Given the description of an element on the screen output the (x, y) to click on. 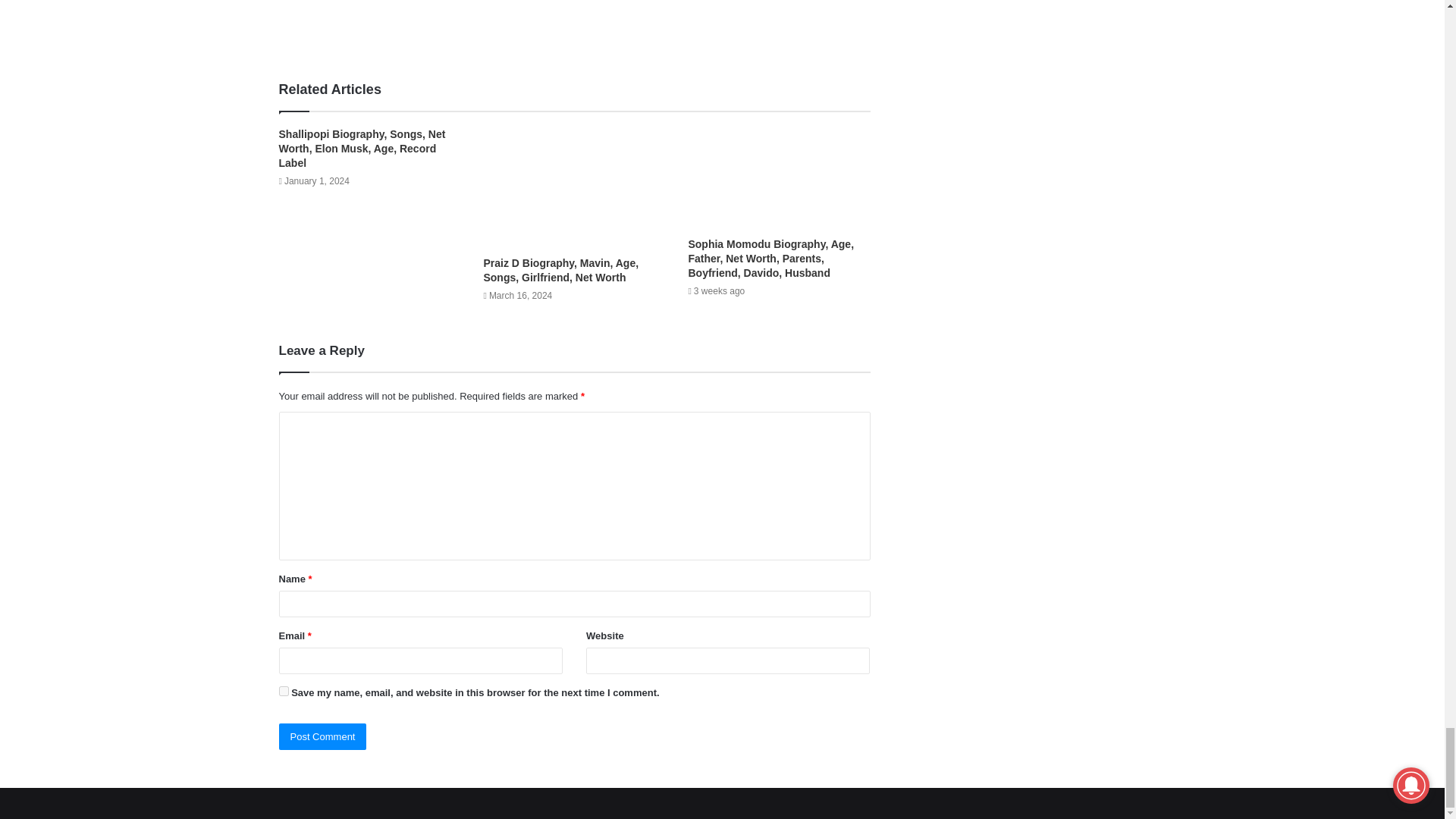
yes (283, 691)
Post Comment (322, 736)
